Given the description of an element on the screen output the (x, y) to click on. 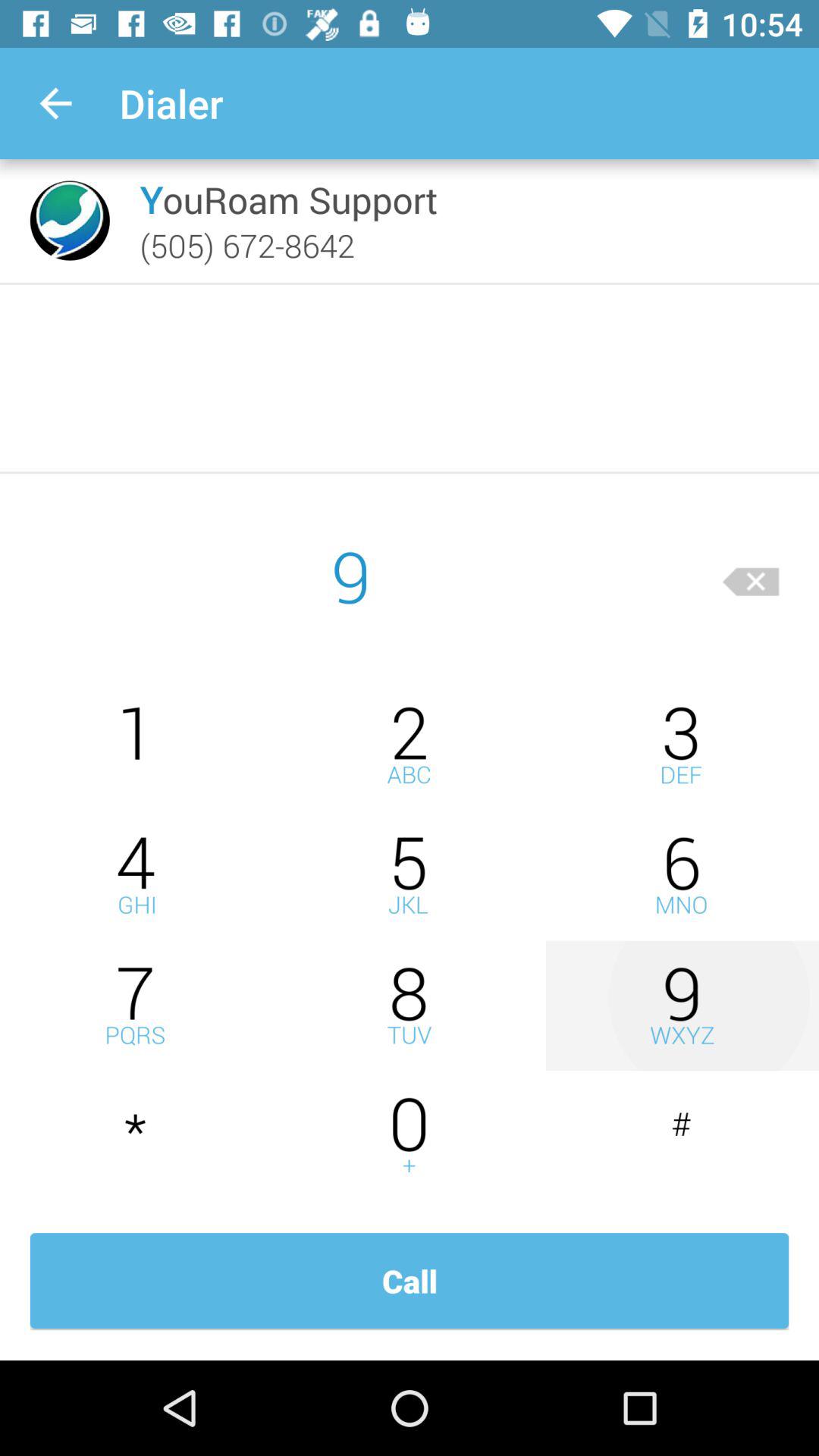
number three key (682, 745)
